Given the description of an element on the screen output the (x, y) to click on. 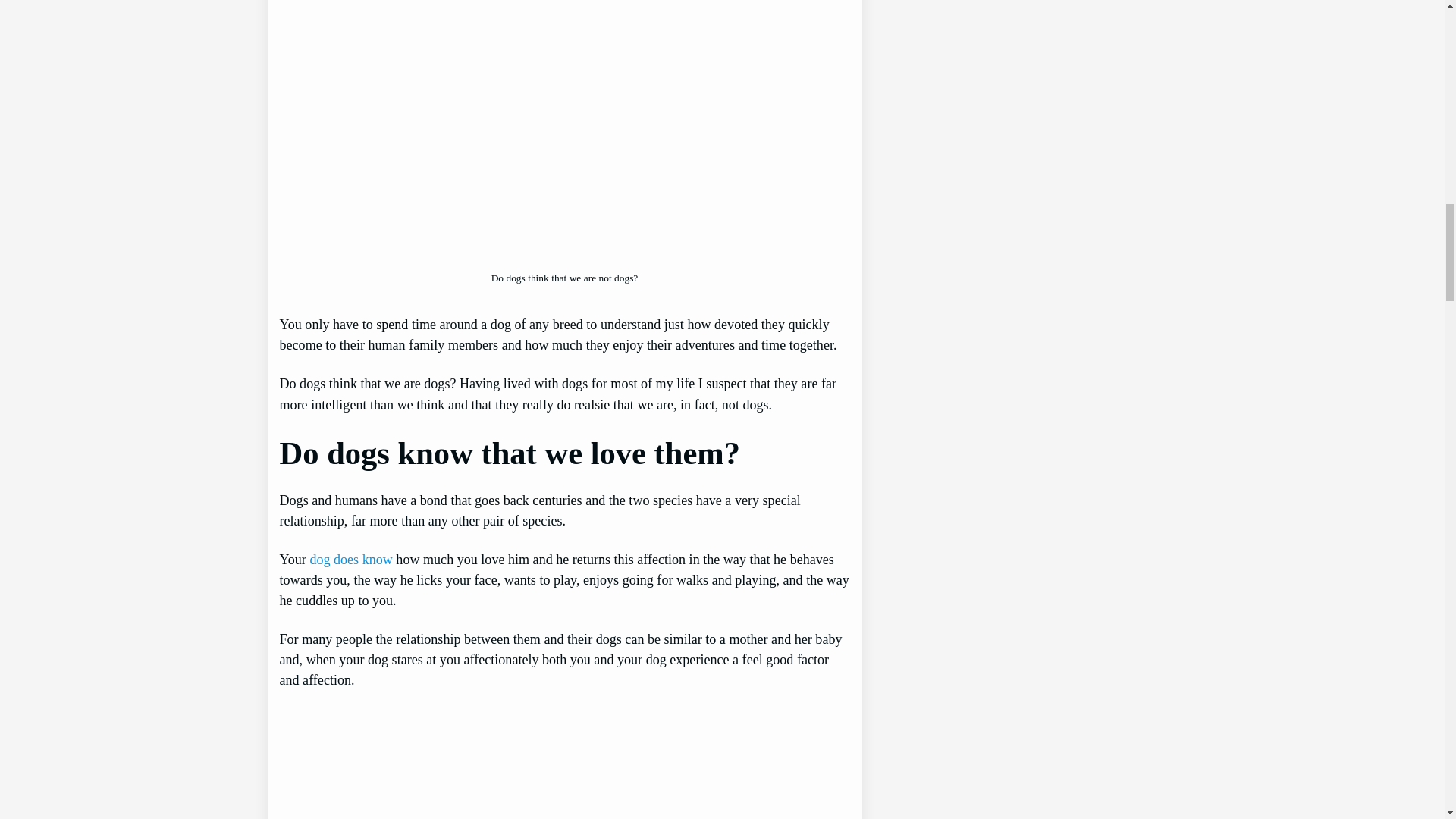
dog does know (349, 559)
